Given the description of an element on the screen output the (x, y) to click on. 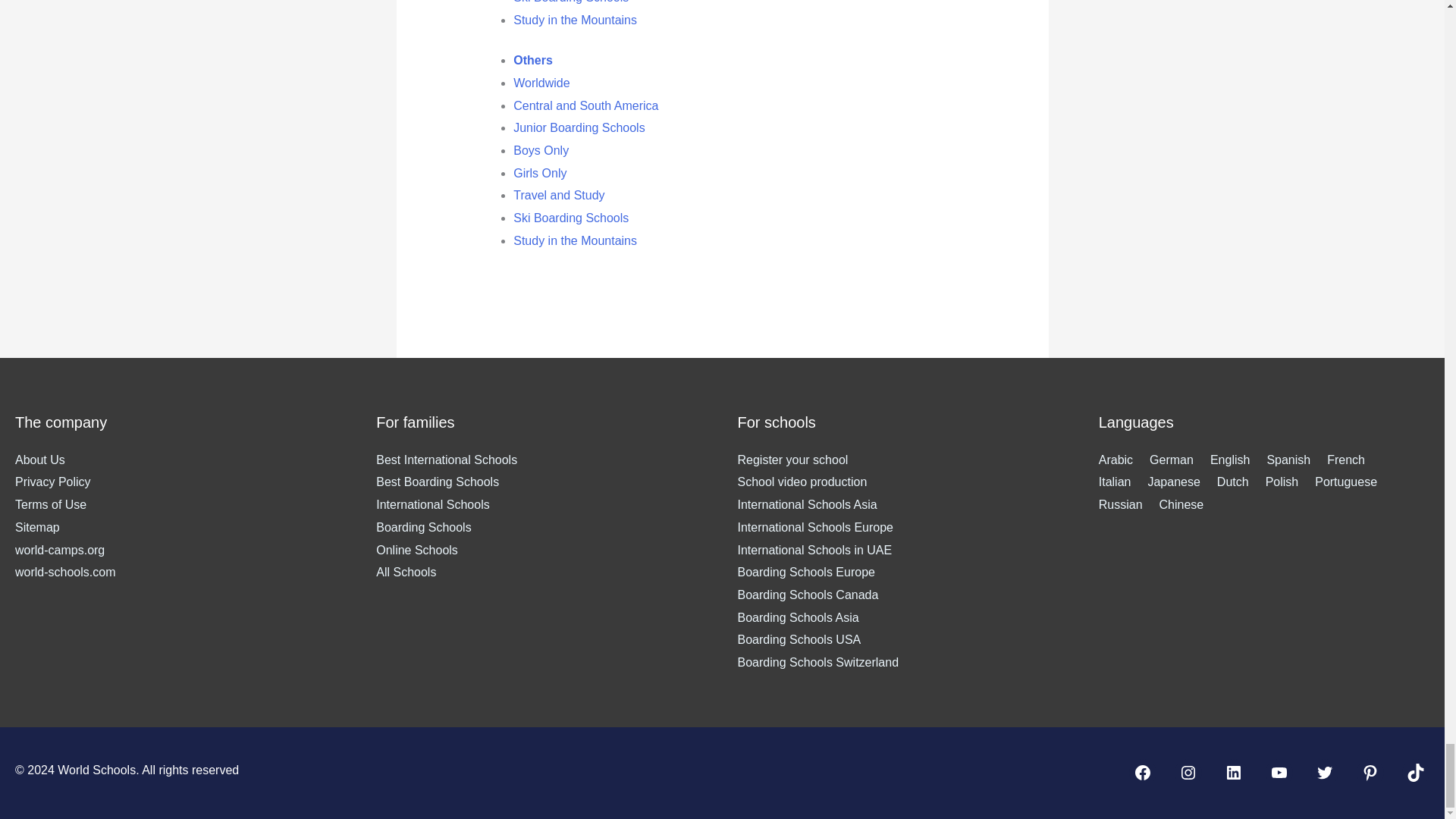
English (1237, 459)
Arabic (1124, 459)
German (1179, 459)
